Given the description of an element on the screen output the (x, y) to click on. 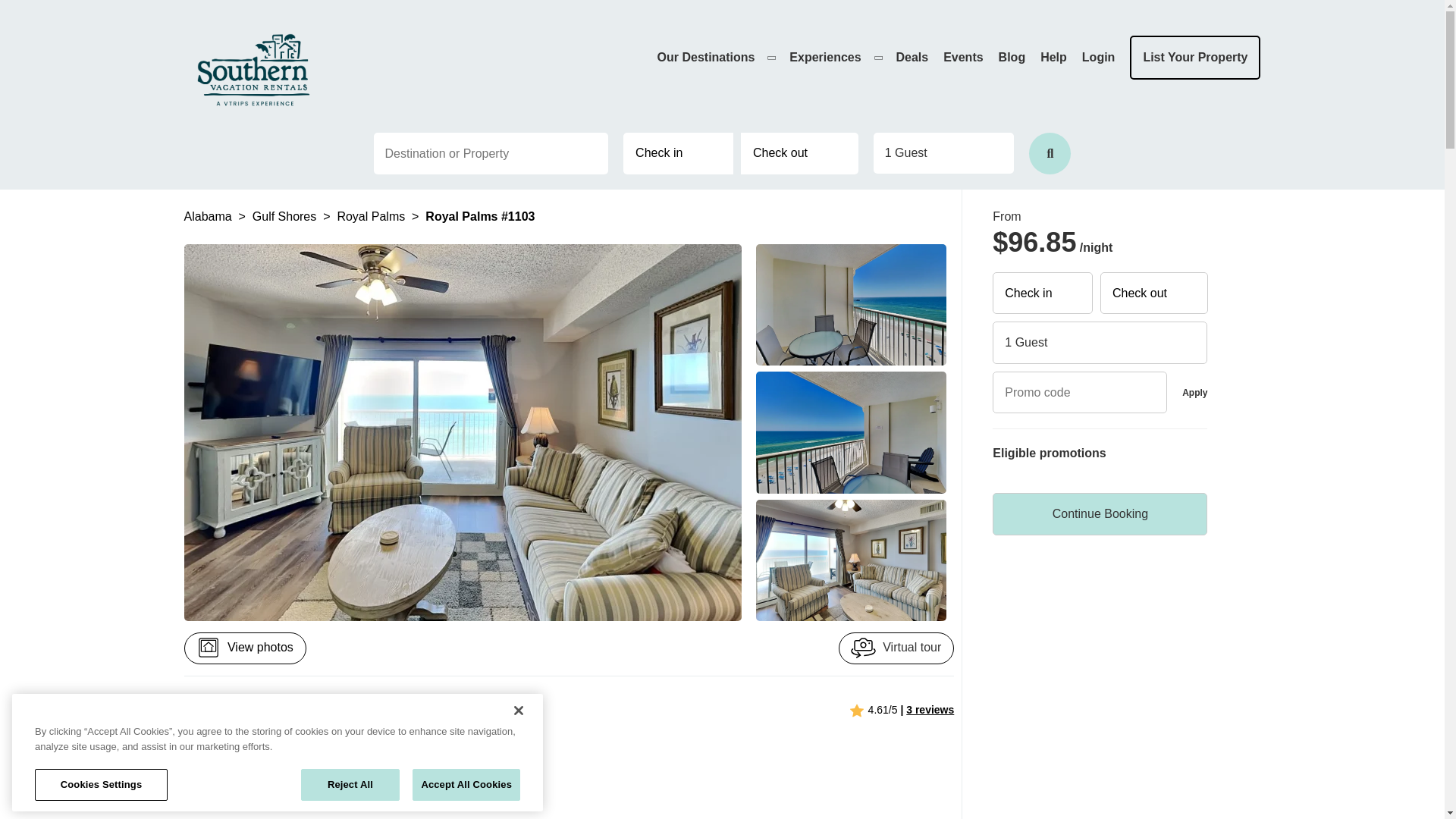
Our Destinations (716, 57)
1 Guest (943, 152)
Balcony View (850, 432)
Login (1098, 57)
Help (1054, 57)
Balcony View (850, 304)
List Your Property (1194, 57)
Blog (1012, 57)
Deals (911, 57)
Events (962, 57)
Virtual tour (896, 648)
3 reviews (929, 709)
Gulf Shores (285, 215)
View photos (244, 648)
Alabama (208, 215)
